Given the description of an element on the screen output the (x, y) to click on. 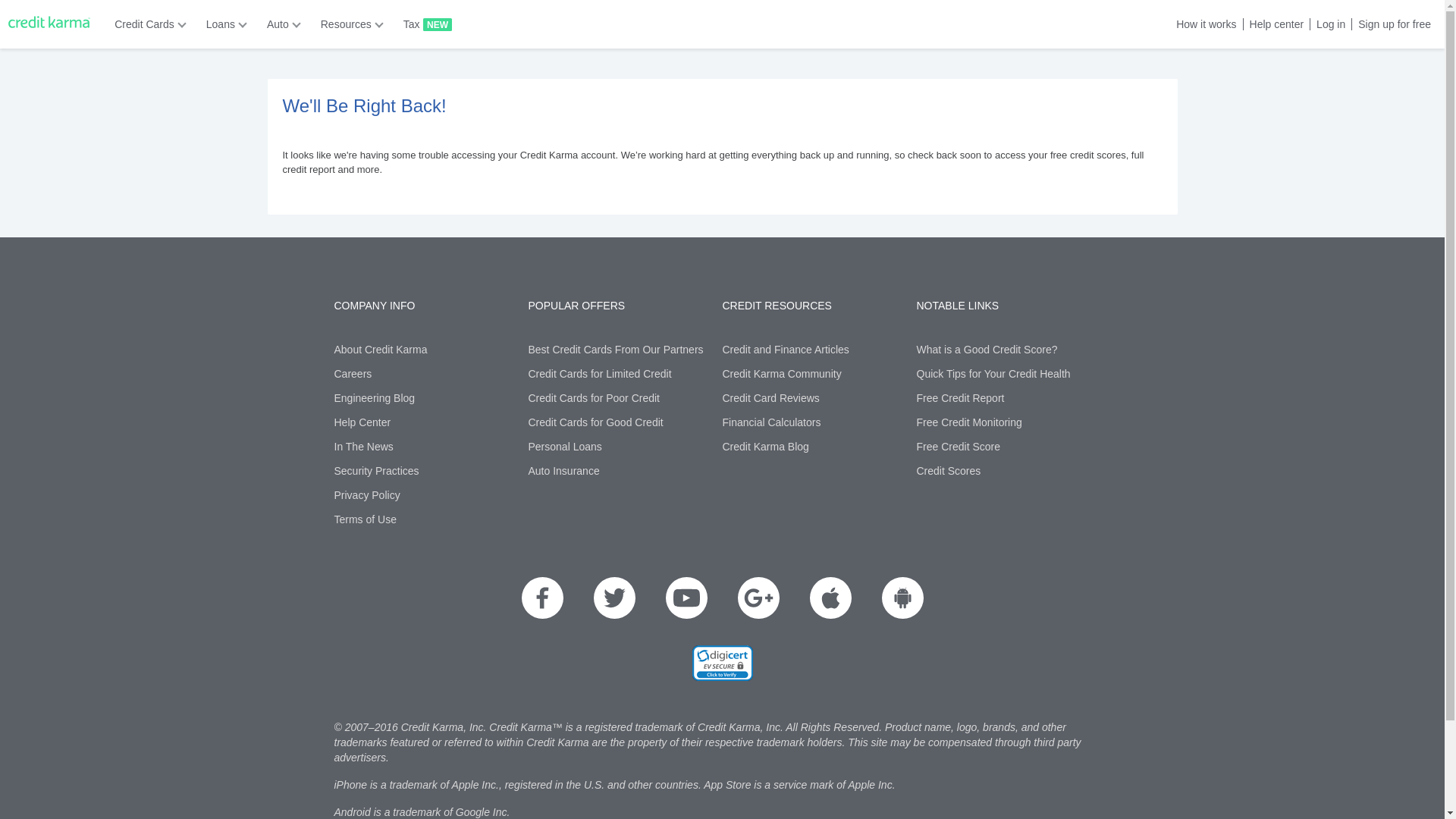
Download Android App (901, 598)
Help center (1273, 23)
Credit Cards (146, 23)
Download iOS App (830, 598)
YouTube (686, 598)
How it works (1203, 23)
Google Plus (757, 598)
Resources (347, 23)
Sign up for free (1391, 23)
Log in (1326, 23)
Facebook (542, 598)
Twitter (613, 598)
